Given the description of an element on the screen output the (x, y) to click on. 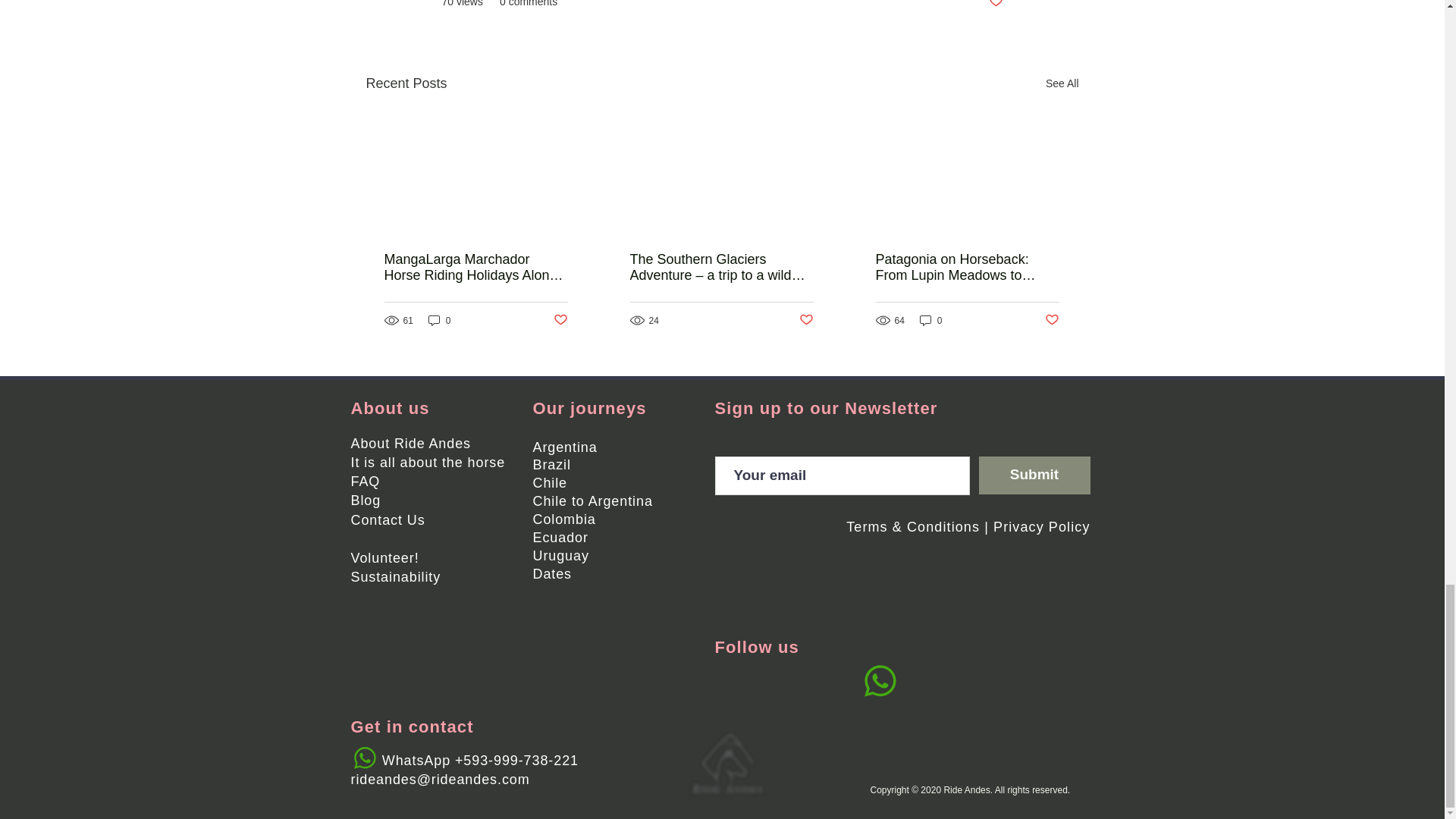
See All (1061, 83)
Post not marked as liked (995, 4)
0 (439, 319)
Post not marked as liked (560, 320)
